Given the description of an element on the screen output the (x, y) to click on. 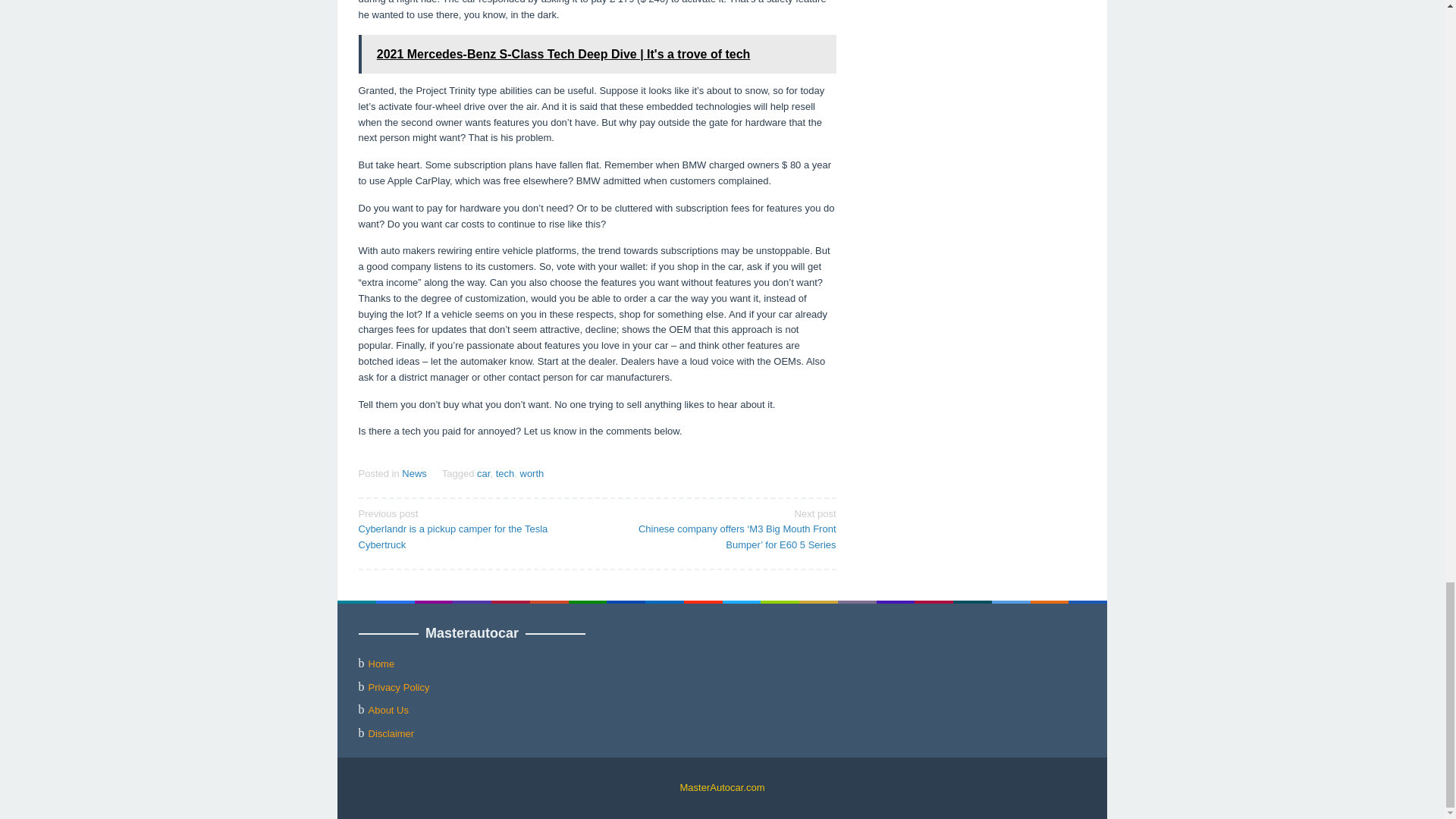
worth (531, 473)
About Us (388, 709)
Disclaimer (391, 733)
Home (381, 663)
News (413, 473)
tech (505, 473)
Privacy Policy (398, 686)
car (483, 473)
